Given the description of an element on the screen output the (x, y) to click on. 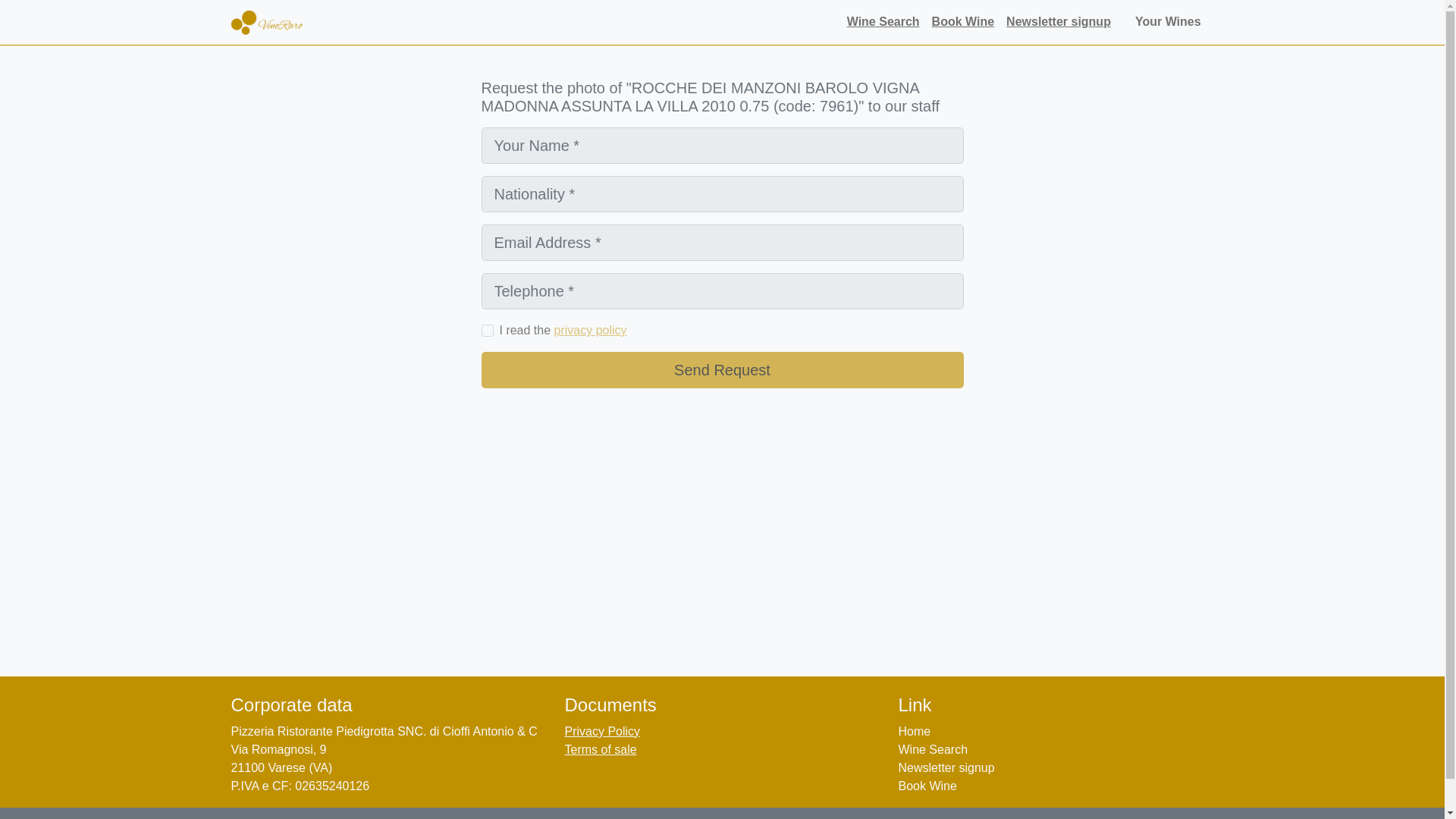
Wine Search (883, 21)
Wine Search (933, 748)
Your Wines   (1171, 21)
Book Wine (927, 785)
Terms of sale (600, 748)
Home (914, 730)
Newsletter signup (946, 767)
on (486, 330)
Send Request (721, 370)
Book Wine (963, 21)
privacy policy (590, 329)
Newsletter signup (1058, 21)
Privacy Policy (602, 730)
